Given the description of an element on the screen output the (x, y) to click on. 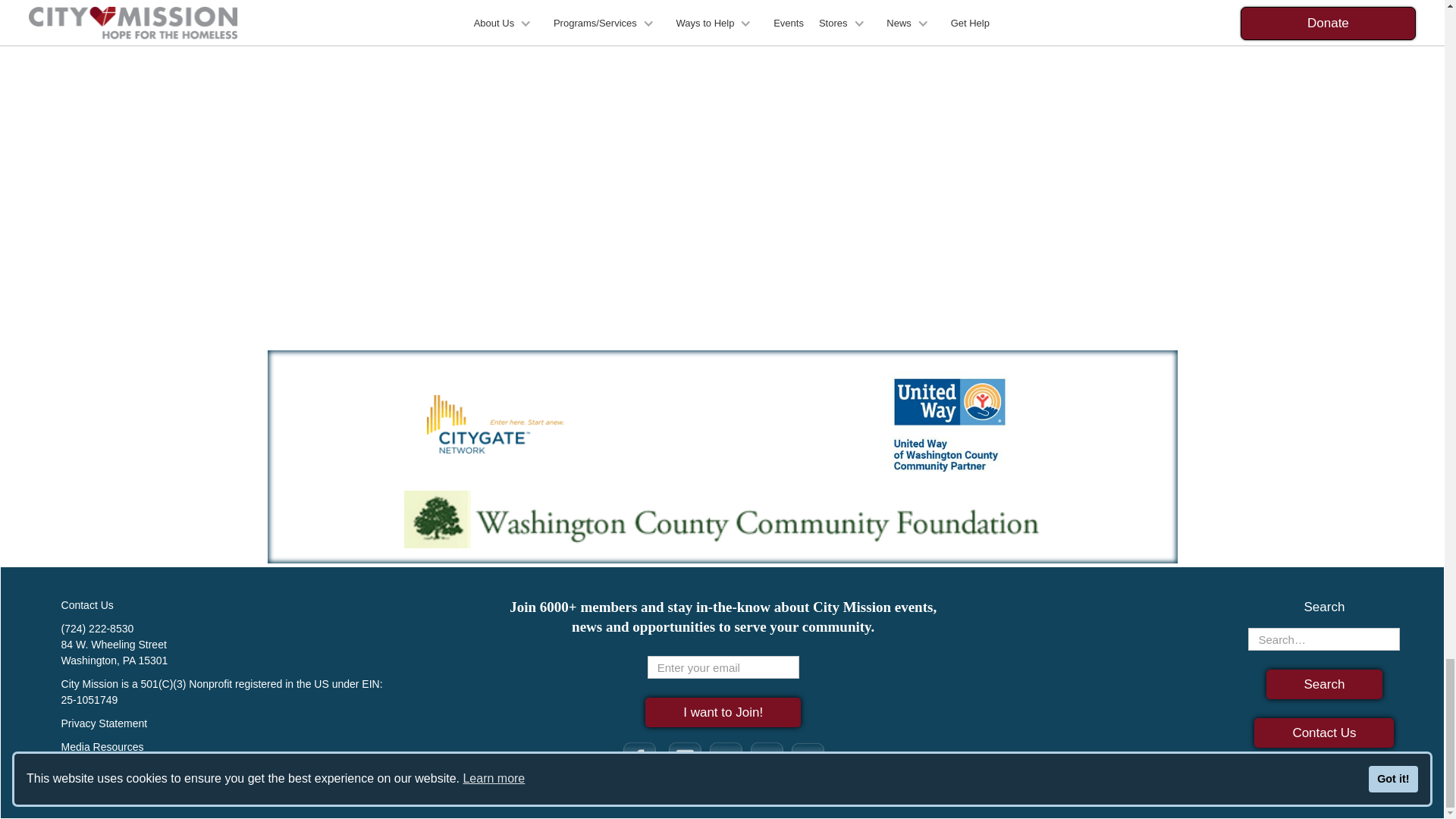
Search (1324, 684)
I want to Join! (722, 712)
